Given the description of an element on the screen output the (x, y) to click on. 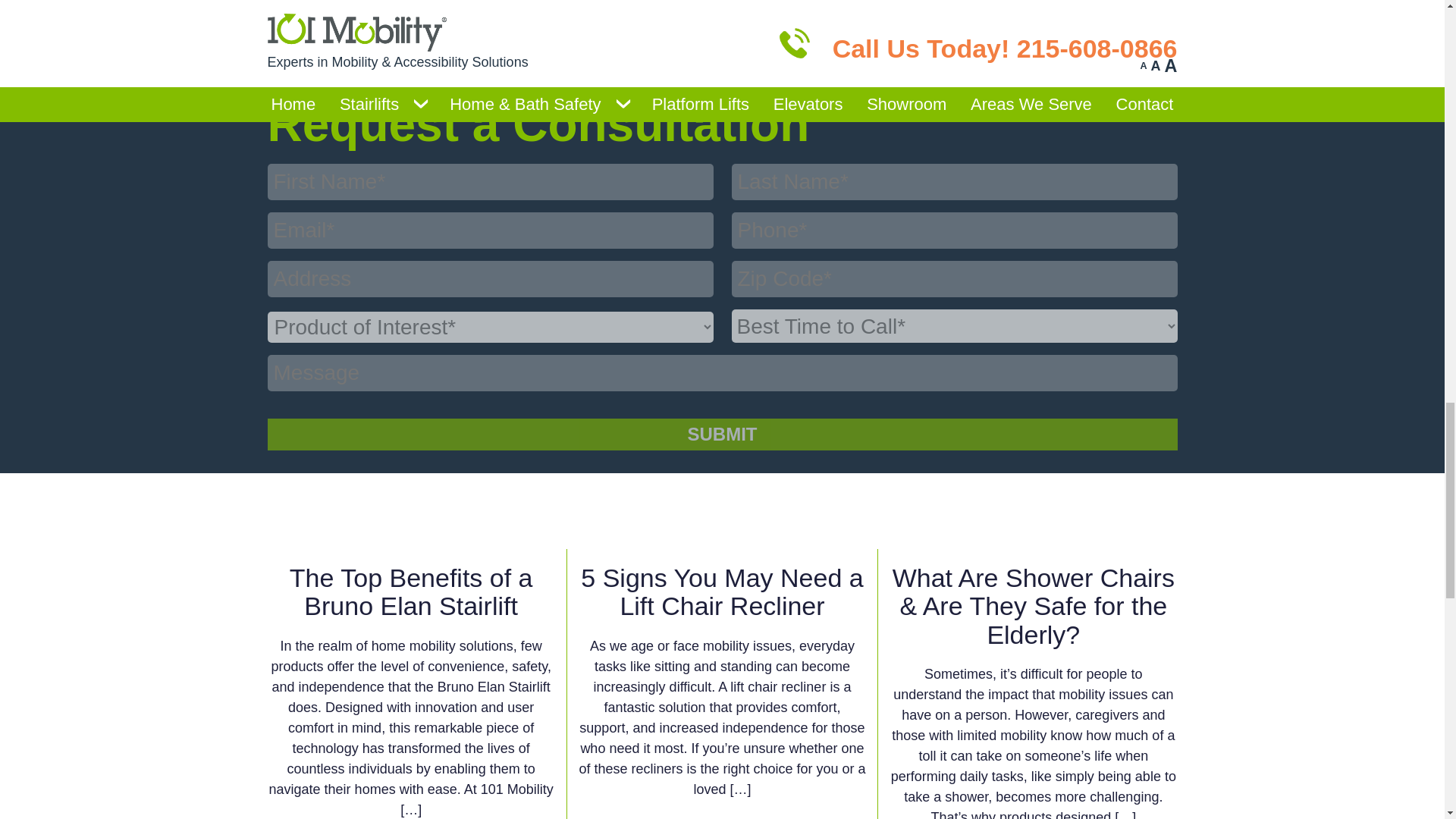
Submit (721, 434)
